Given the description of an element on the screen output the (x, y) to click on. 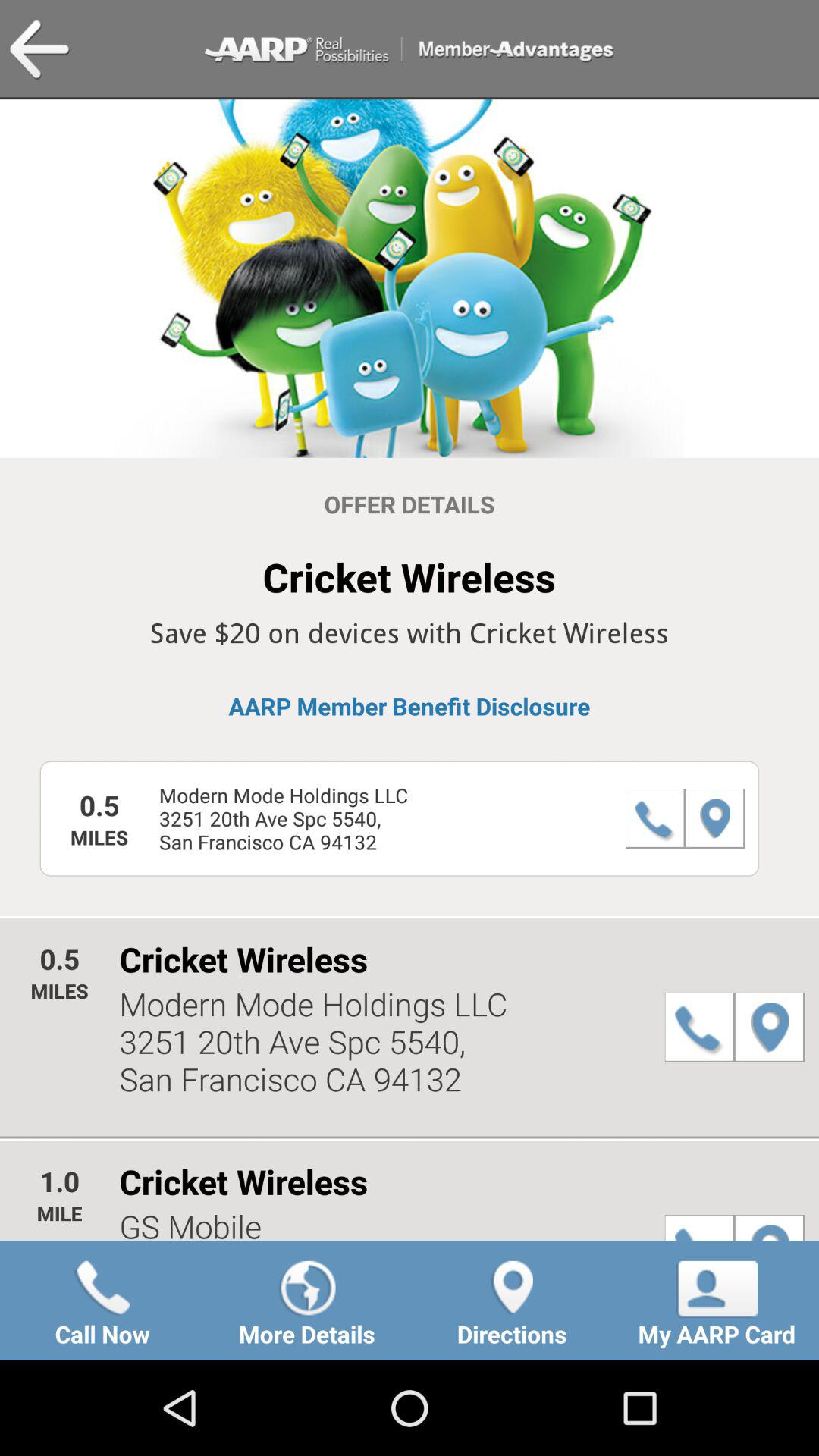
launch the aarp member benefit icon (409, 706)
